Given the description of an element on the screen output the (x, y) to click on. 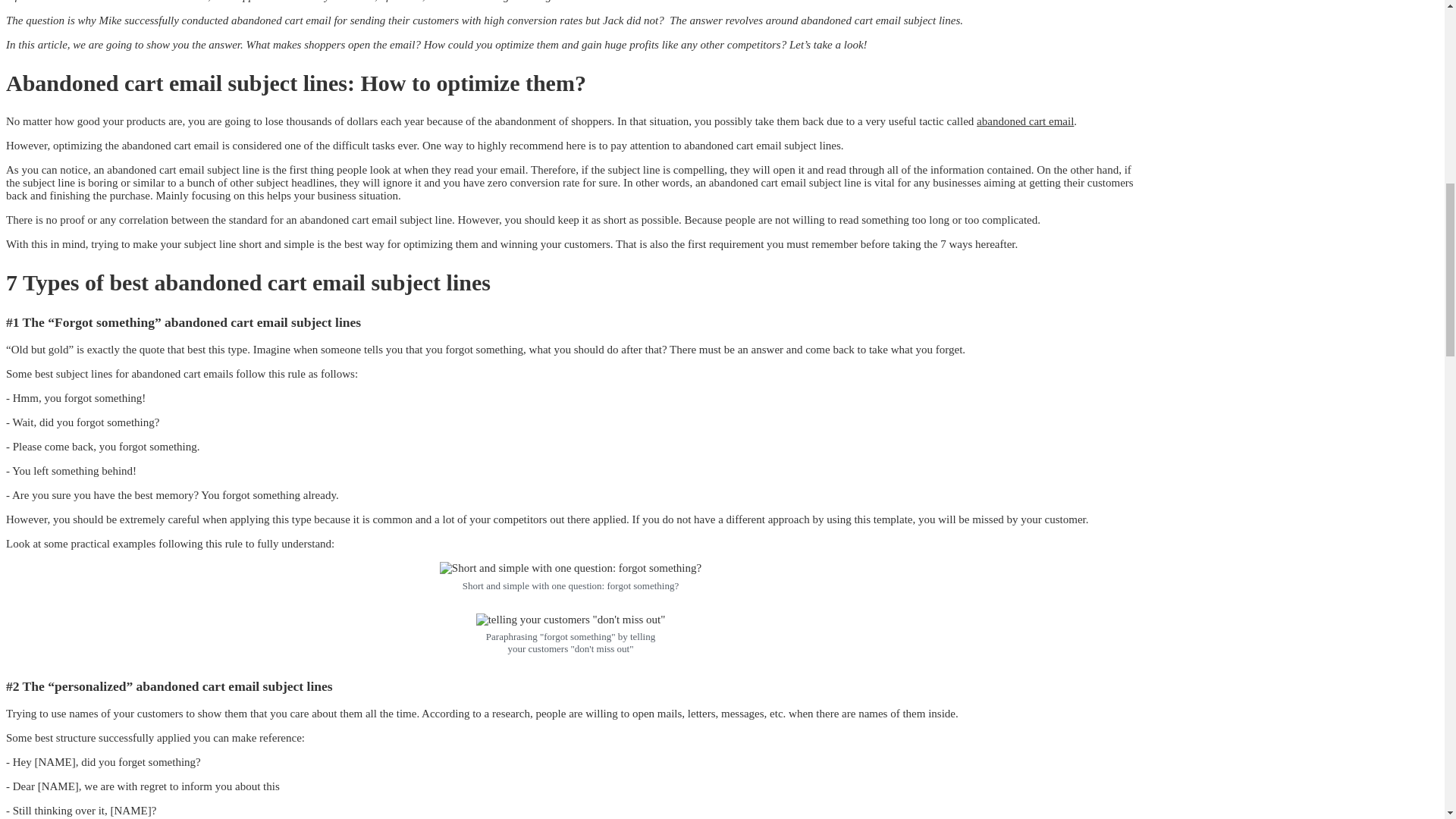
abandoned cart email (1025, 121)
